Given the description of an element on the screen output the (x, y) to click on. 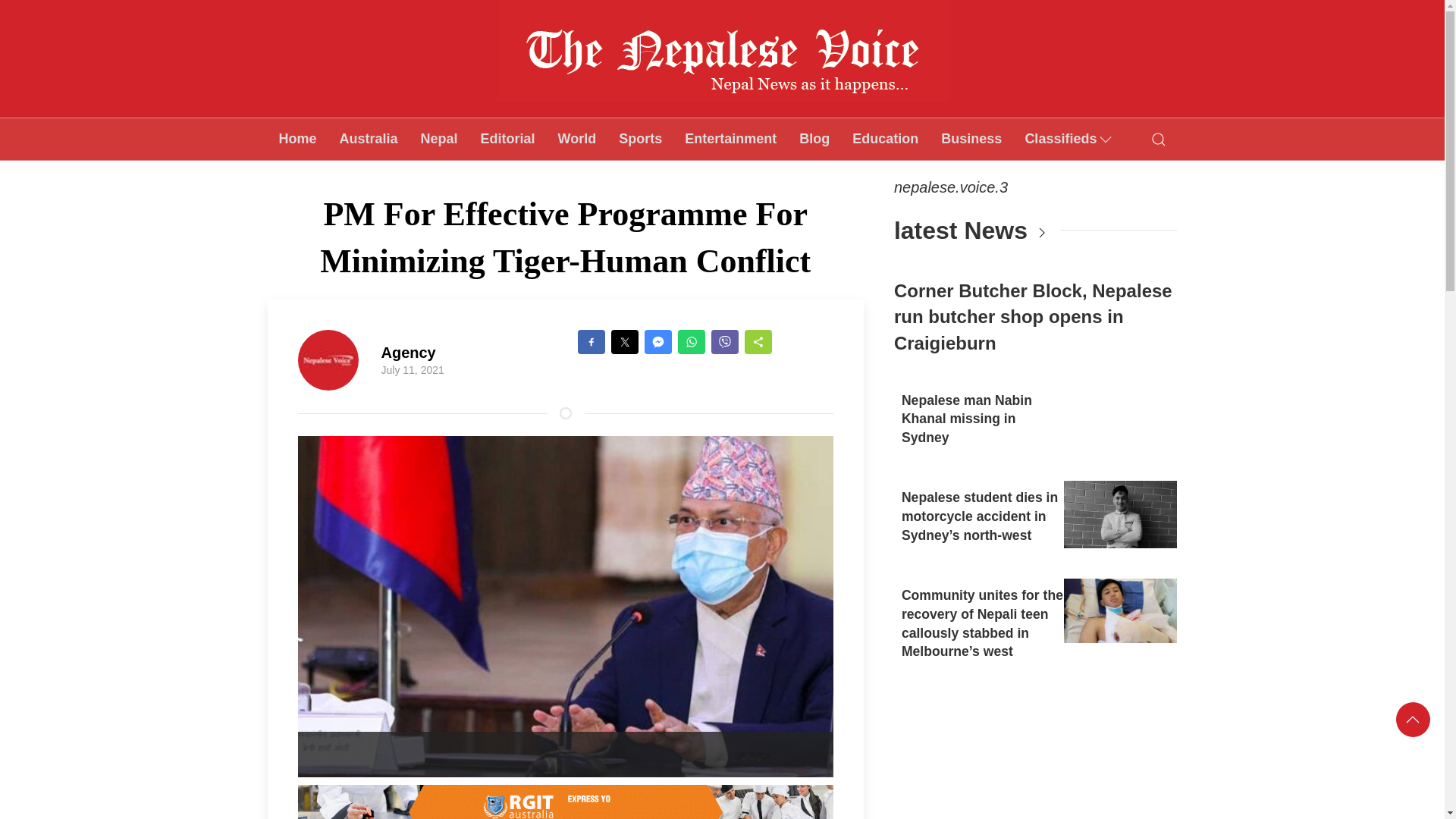
Agency (407, 352)
Nepal (438, 138)
Classifieds (1069, 138)
Home (296, 138)
World (577, 138)
latest News (960, 230)
Editorial (507, 138)
Australia (369, 138)
nepalese.voice.3 (950, 187)
Entertainment (729, 138)
Education (885, 138)
Sports (639, 138)
Business (971, 138)
Blog (814, 138)
